Given the description of an element on the screen output the (x, y) to click on. 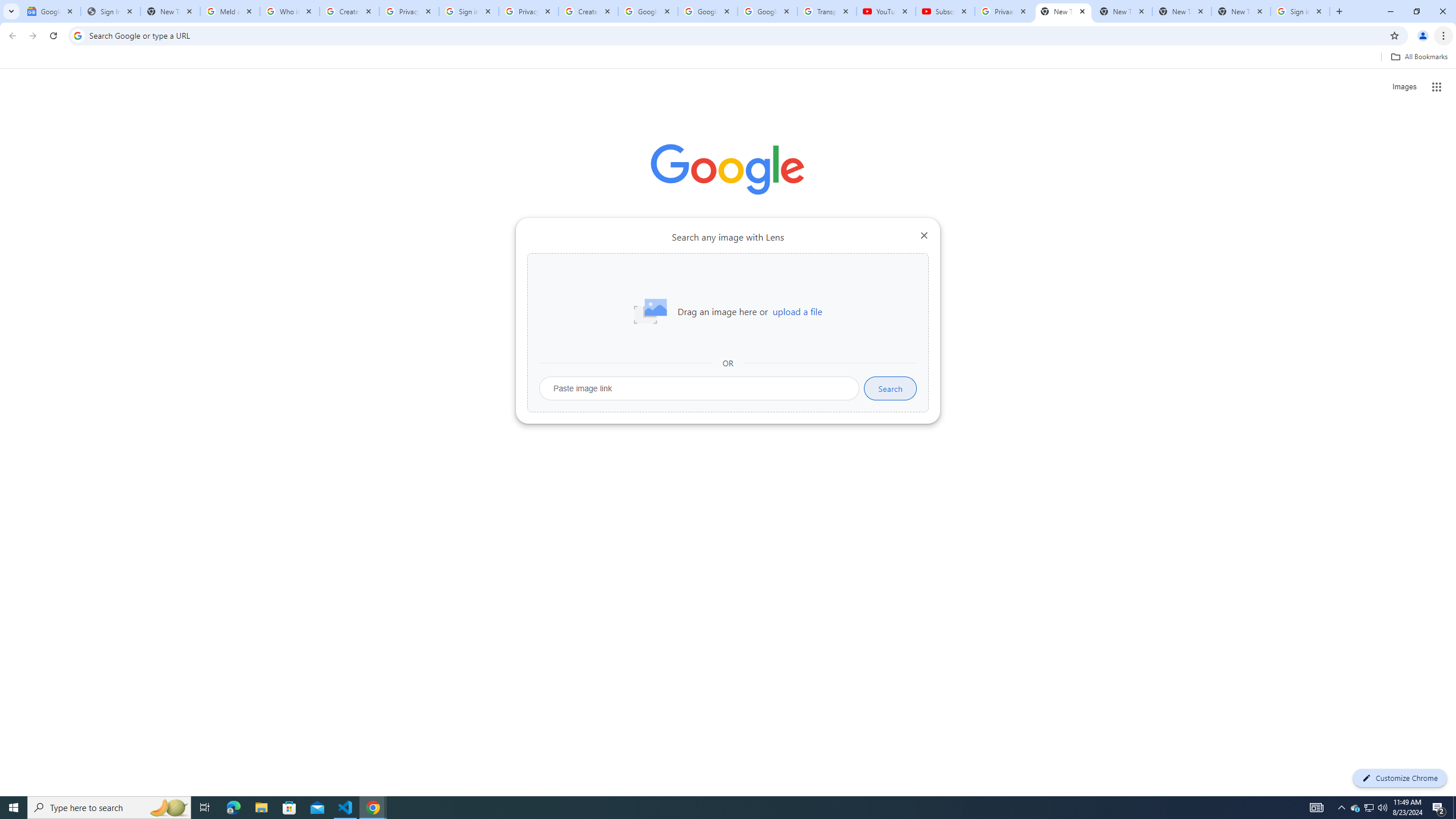
Create your Google Account (349, 11)
Sign in - Google Accounts (468, 11)
upload a file (796, 311)
New Tab (1241, 11)
YouTube (885, 11)
